Given the description of an element on the screen output the (x, y) to click on. 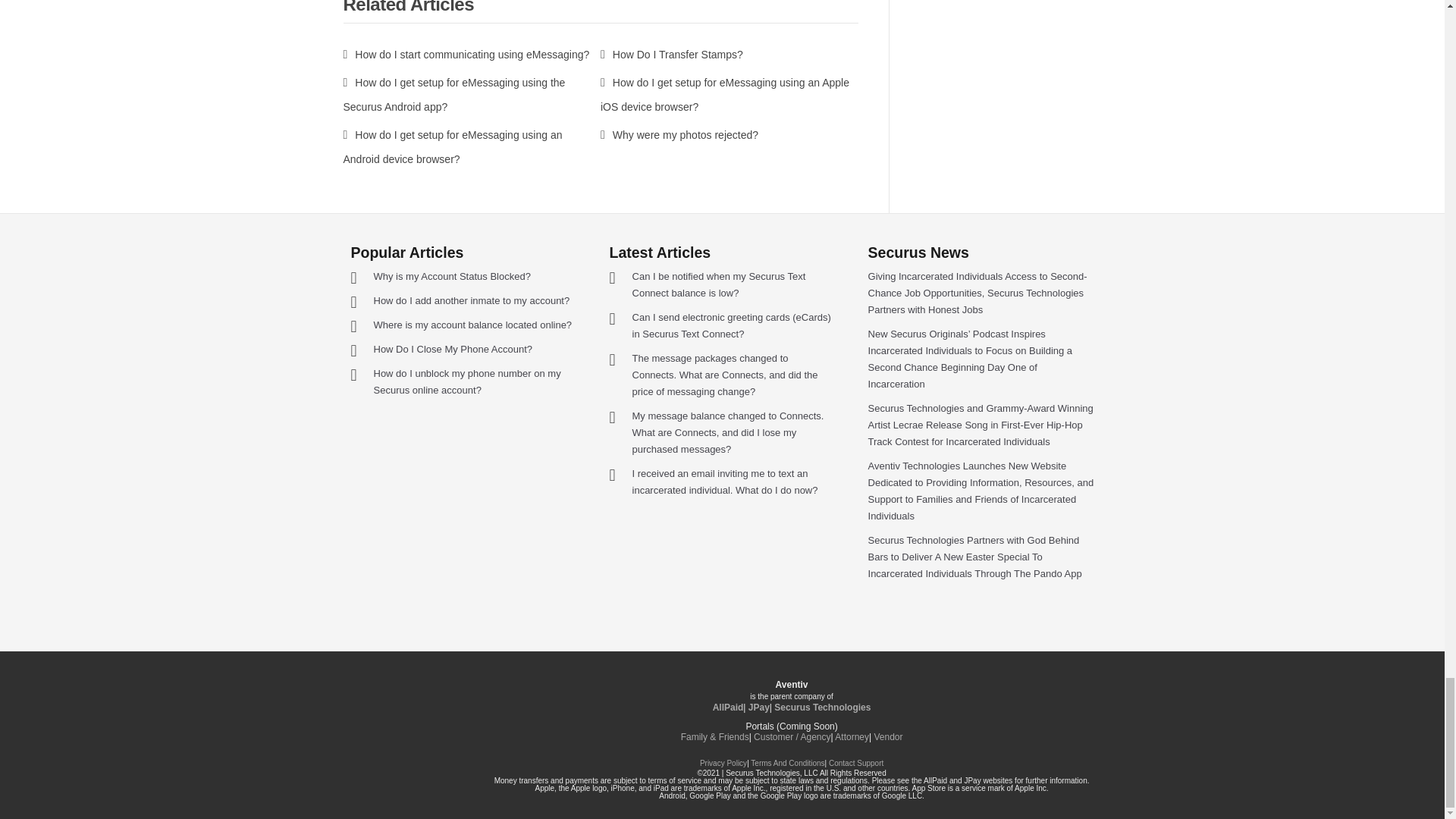
How do I start communicating using eMessaging? (465, 54)
Why were my photos rejected? (678, 134)
How do I start communicating using eMessaging? (465, 54)
How Do I Transfer Stamps? (670, 54)
Where is my account balance located online? (472, 324)
Why is my Account Status Blocked? (450, 276)
How Do I Transfer Stamps? (670, 54)
How Do I Close My Phone Account? (452, 348)
How do I add another inmate to my account? (470, 300)
